Given the description of an element on the screen output the (x, y) to click on. 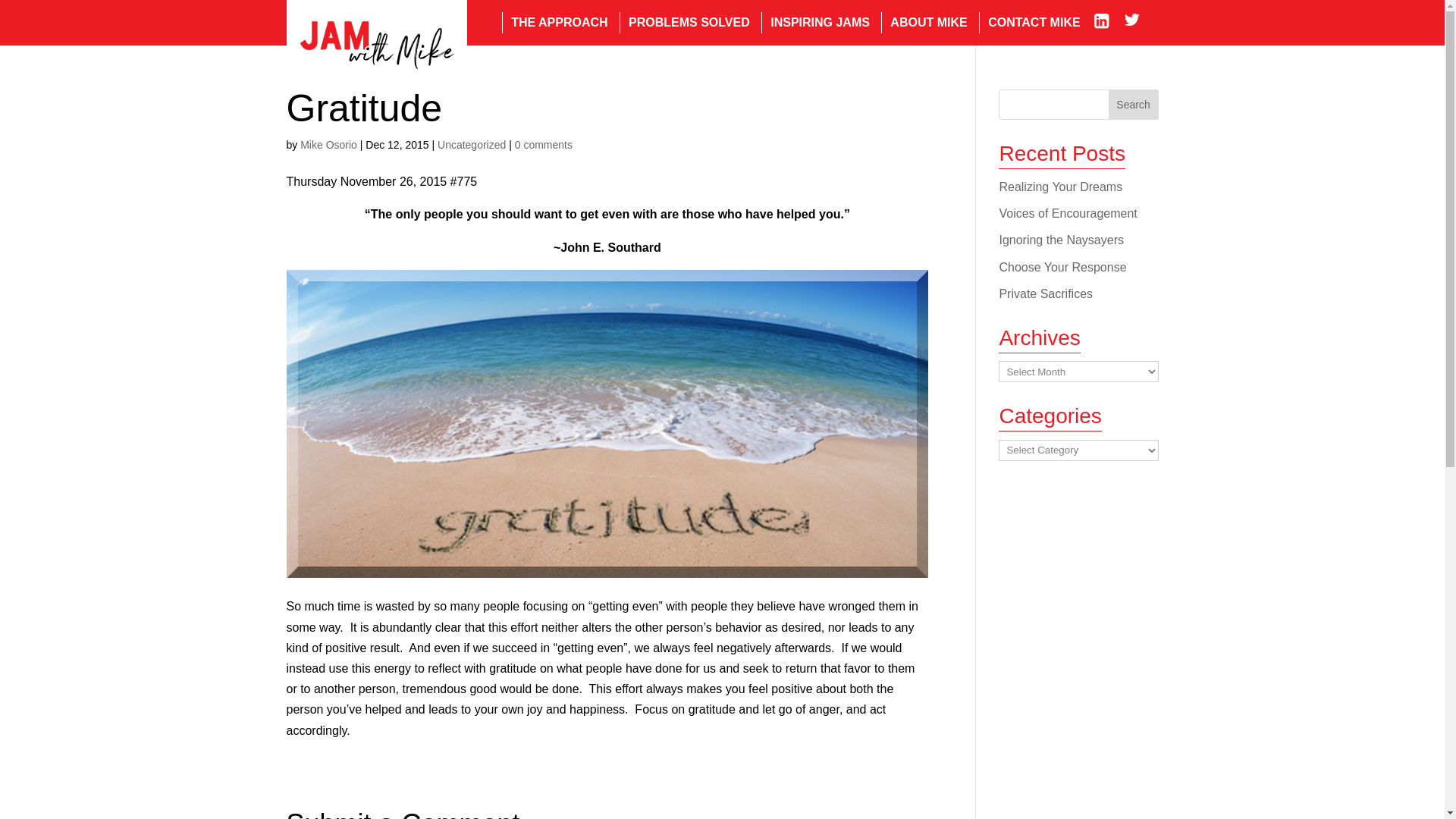
Voices of Encouragement (1067, 213)
Ignoring the Naysayers (1061, 239)
PROBLEMS SOLVED (684, 22)
Uncategorized (471, 144)
Posts by Mike Osorio (327, 144)
INSPIRING JAMS (815, 22)
0 comments (543, 144)
THE APPROACH (554, 22)
ABOUT MIKE (923, 22)
Private Sacrifices (1045, 293)
Mike Osorio (327, 144)
in (1107, 23)
CONTACT MIKE (1029, 22)
Realizing Your Dreams (1060, 186)
Choose Your Response (1061, 267)
